Given the description of an element on the screen output the (x, y) to click on. 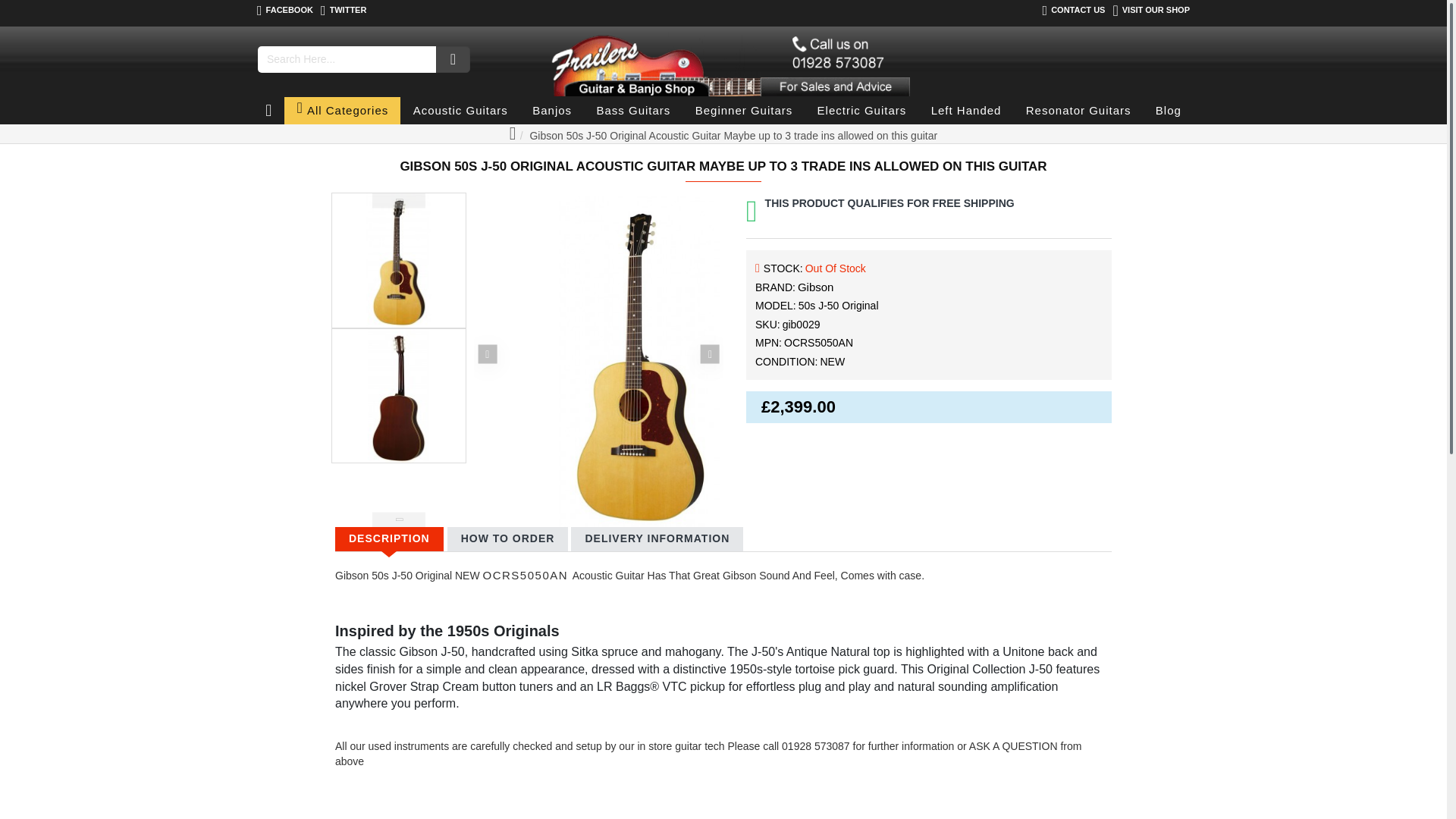
Frailers Guitar and Banjo Shop (726, 61)
FACEBOOK (285, 10)
TWITTER (343, 10)
VISIT OUR SHOP (1150, 10)
All Categories (341, 110)
CONTACT US (1074, 10)
